Given the description of an element on the screen output the (x, y) to click on. 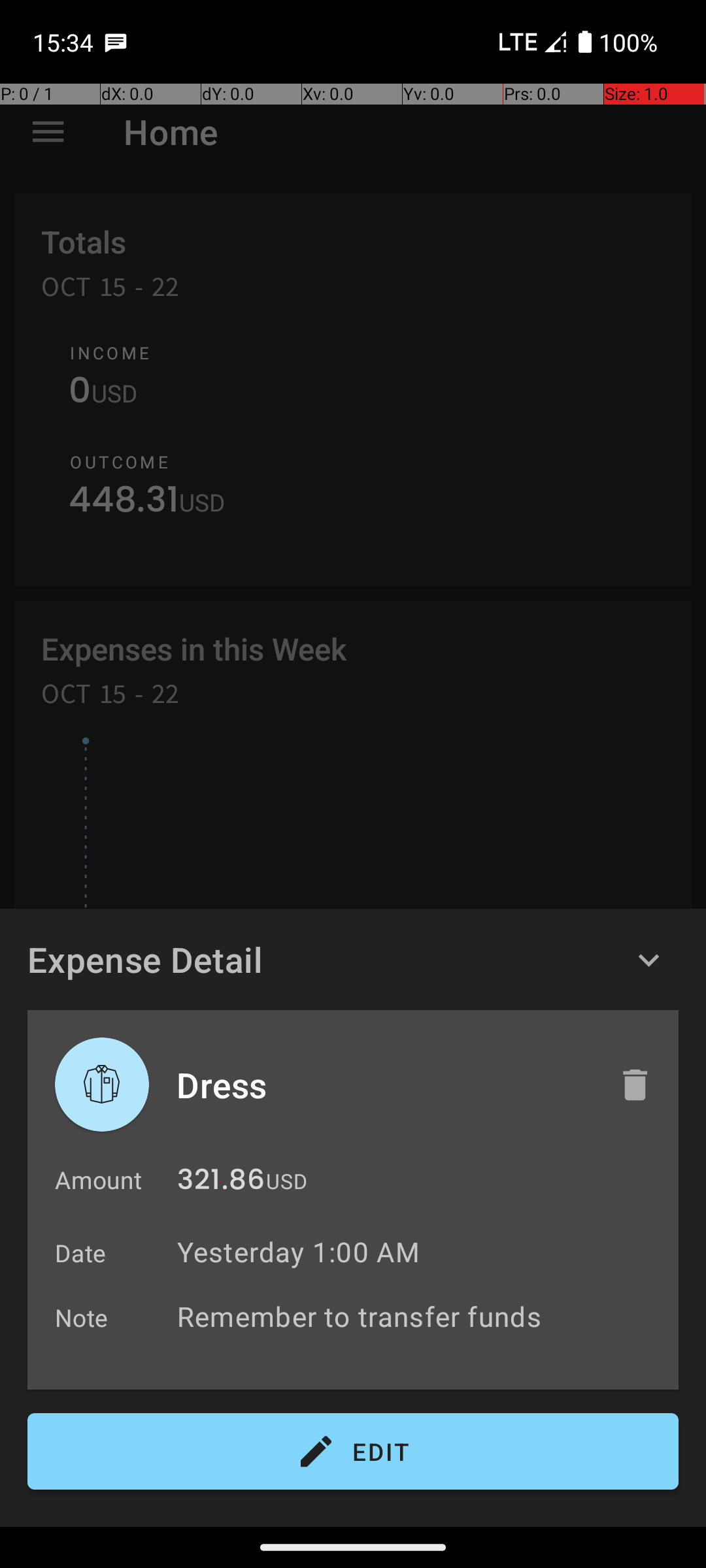
Dress Element type: android.widget.TextView (383, 1084)
321.86 Element type: android.widget.TextView (220, 1182)
Yesterday 1:00 AM Element type: android.widget.TextView (298, 1251)
